Given the description of an element on the screen output the (x, y) to click on. 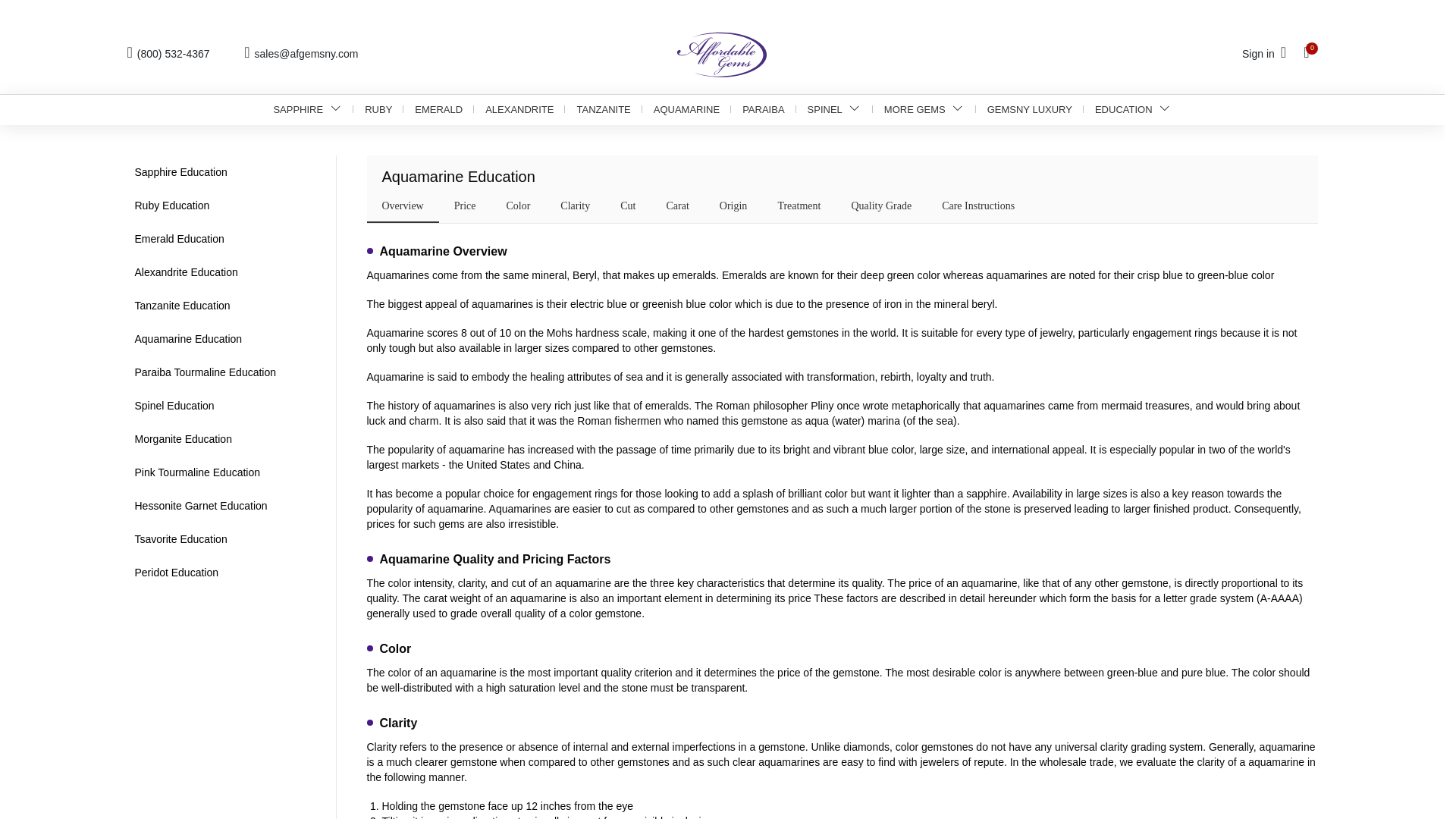
Affordable GemsNY (721, 54)
Price (465, 205)
Overview (402, 205)
Quality Grade (880, 205)
Sign in (1265, 53)
Contact us (301, 53)
Cut (627, 205)
Color (517, 205)
Clarity (574, 205)
Sapphire (307, 110)
